Given the description of an element on the screen output the (x, y) to click on. 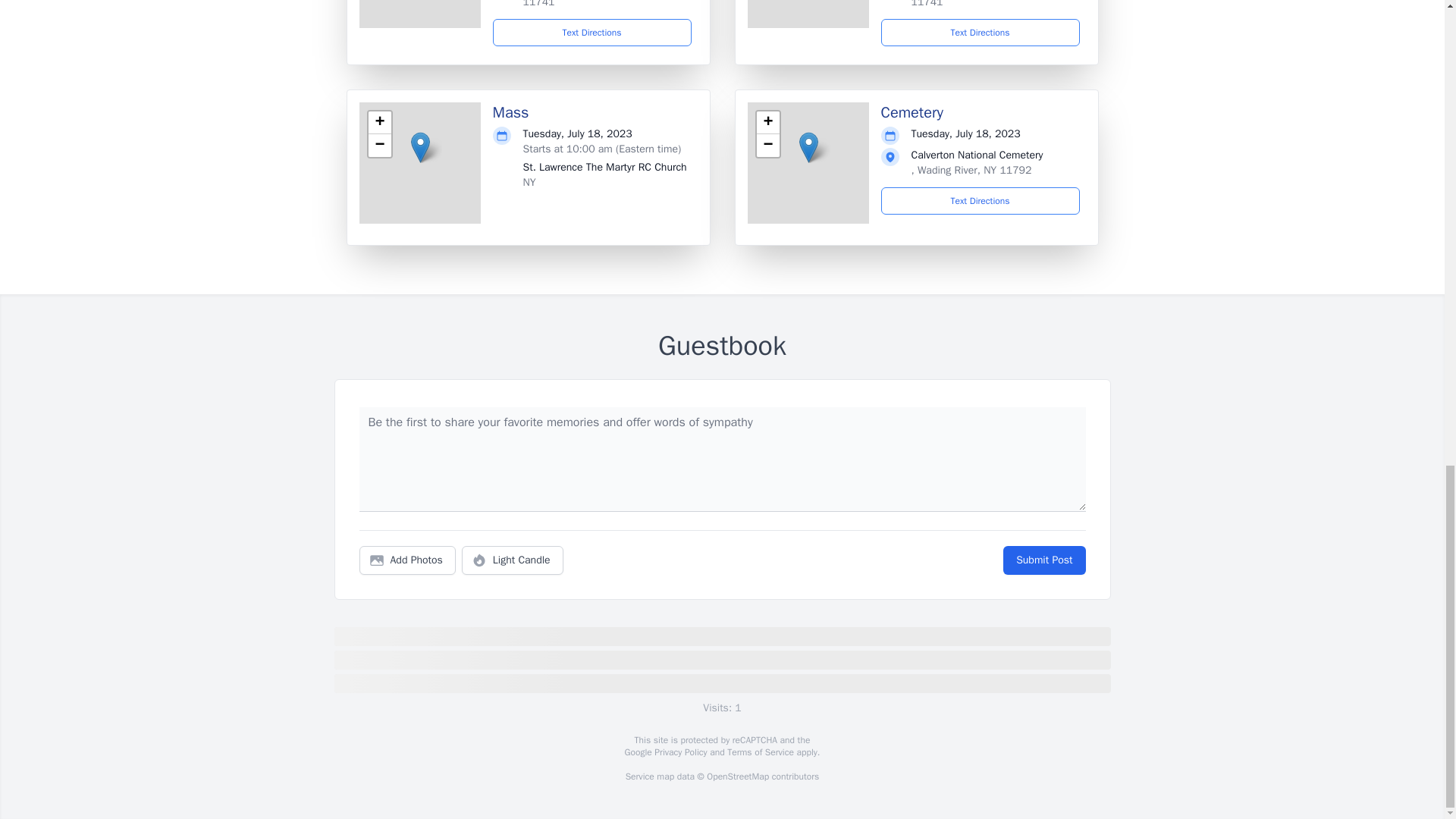
Zoom in (767, 122)
825 Main Street, Holbrook, NY 11741 (594, 4)
Text Directions (980, 200)
Text Directions (980, 31)
Zoom out (767, 145)
Zoom out (379, 145)
Text Directions (592, 31)
825 Main Street, Holbrook, NY 11741 (982, 4)
NY (528, 182)
, Wading River, NY 11792 (971, 169)
